Given the description of an element on the screen output the (x, y) to click on. 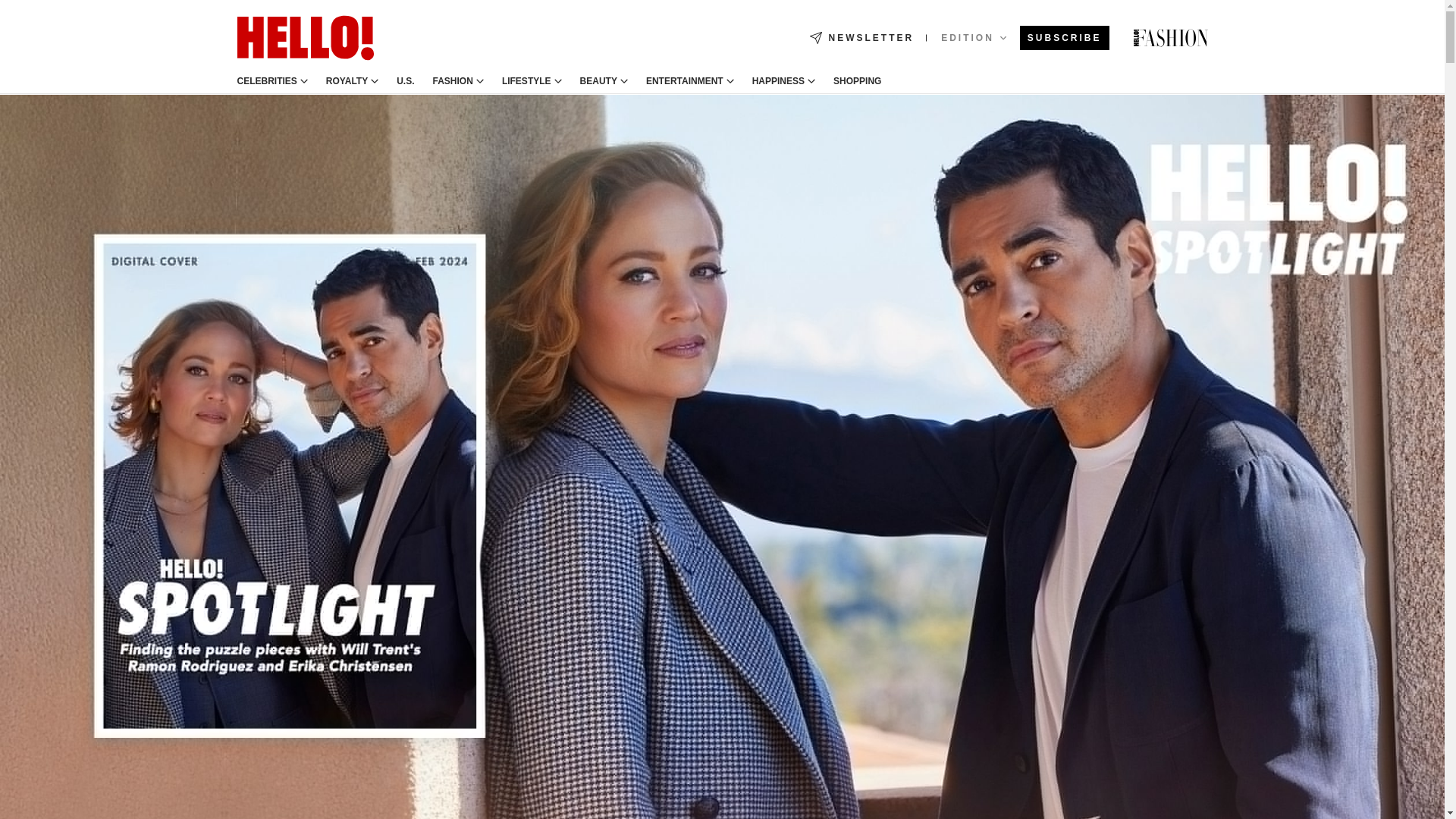
CELEBRITIES (266, 81)
FASHION (452, 81)
BEAUTY (598, 81)
U.S. (404, 81)
ROYALTY (347, 81)
NEWSLETTER (861, 38)
